Given the description of an element on the screen output the (x, y) to click on. 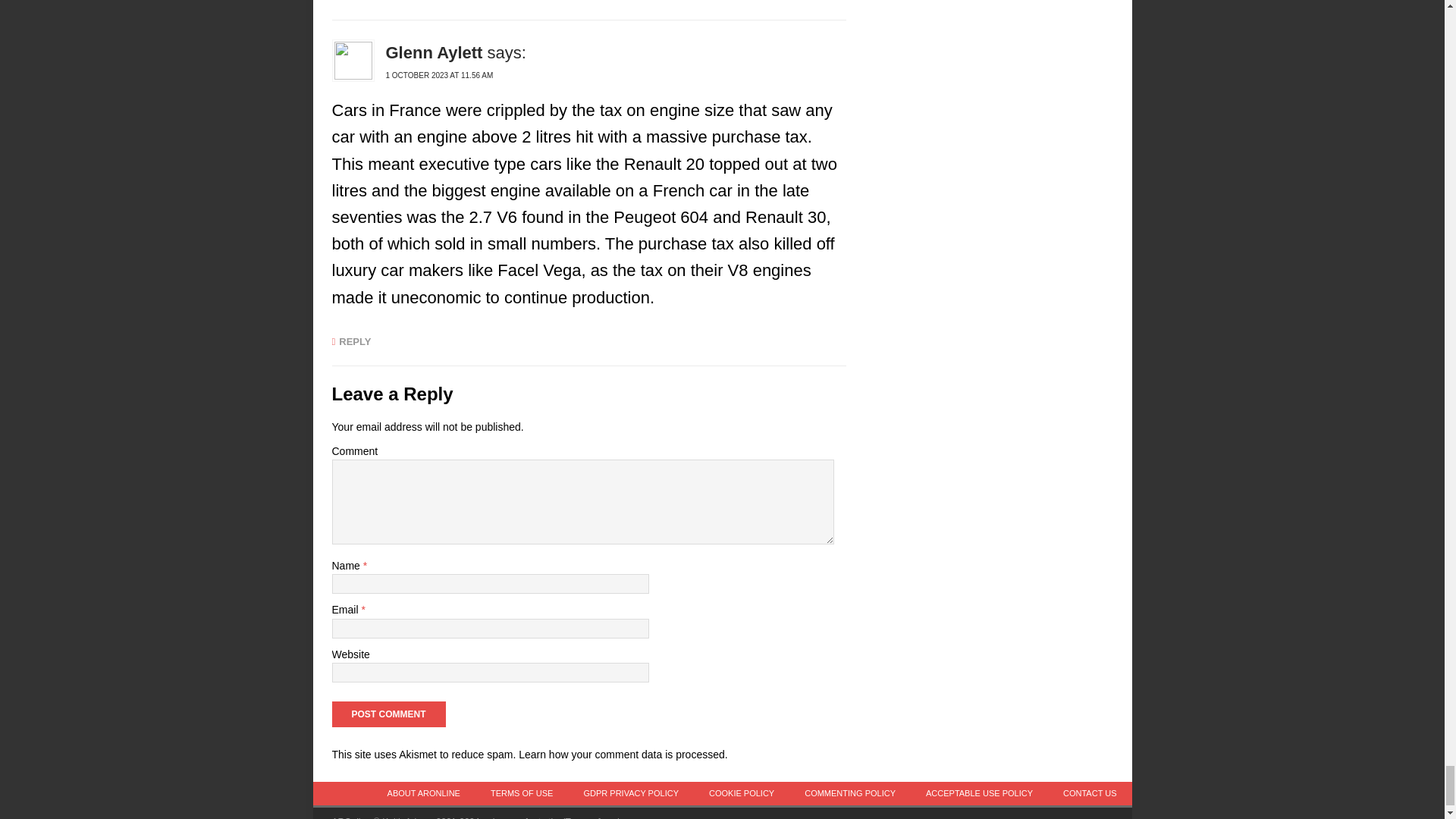
Post Comment (388, 714)
